Given the description of an element on the screen output the (x, y) to click on. 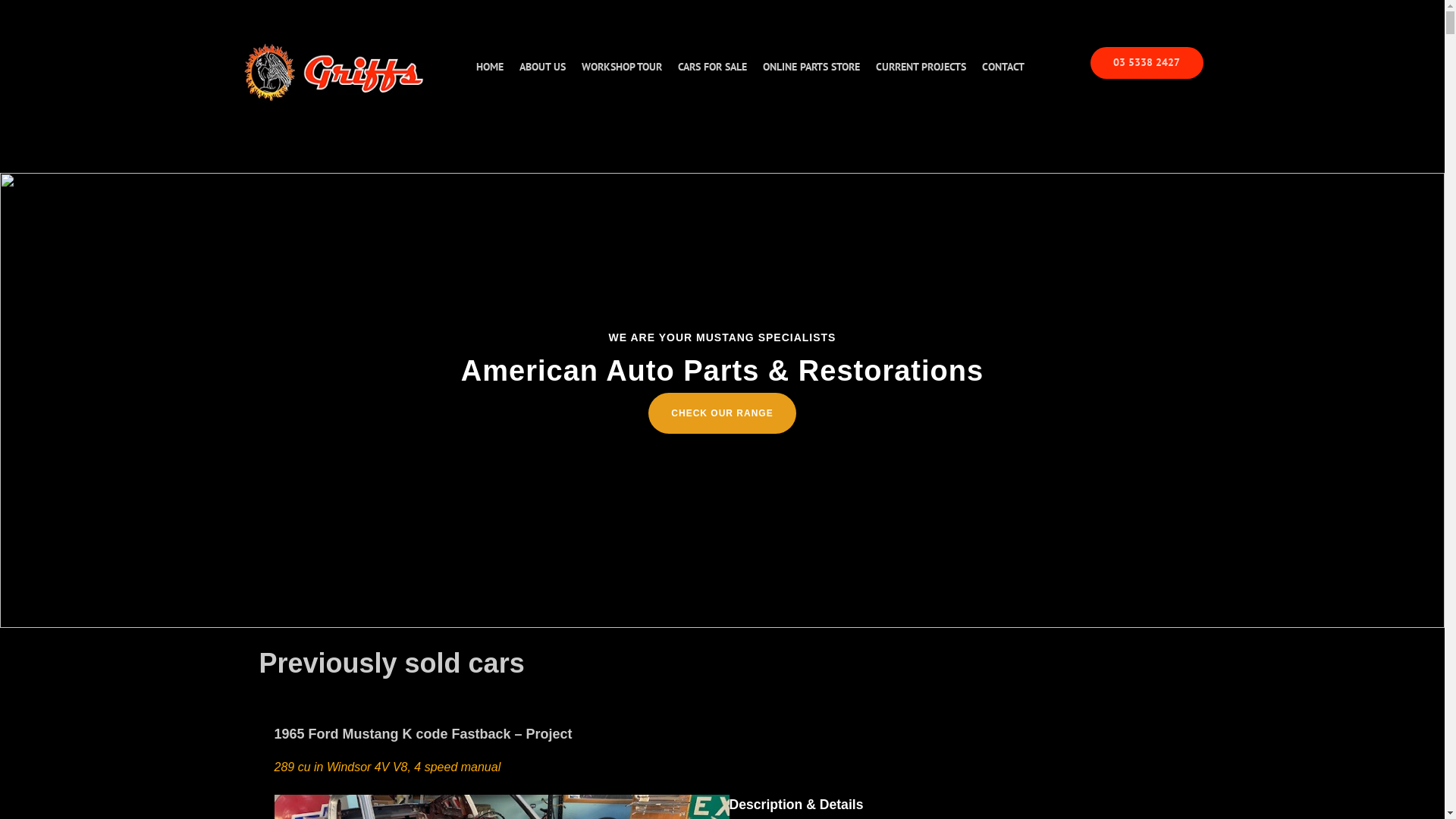
03 5338 2427 Element type: text (1146, 62)
CARS FOR SALE Element type: text (712, 66)
ONLINE PARTS STORE Element type: text (811, 66)
CONTACT Element type: text (1002, 66)
ABOUT US Element type: text (542, 66)
HOME Element type: text (489, 66)
CURRENT PROJECTS Element type: text (920, 66)
CHECK OUR RANGE Element type: text (721, 412)
WORKSHOP TOUR Element type: text (621, 66)
